Given the description of an element on the screen output the (x, y) to click on. 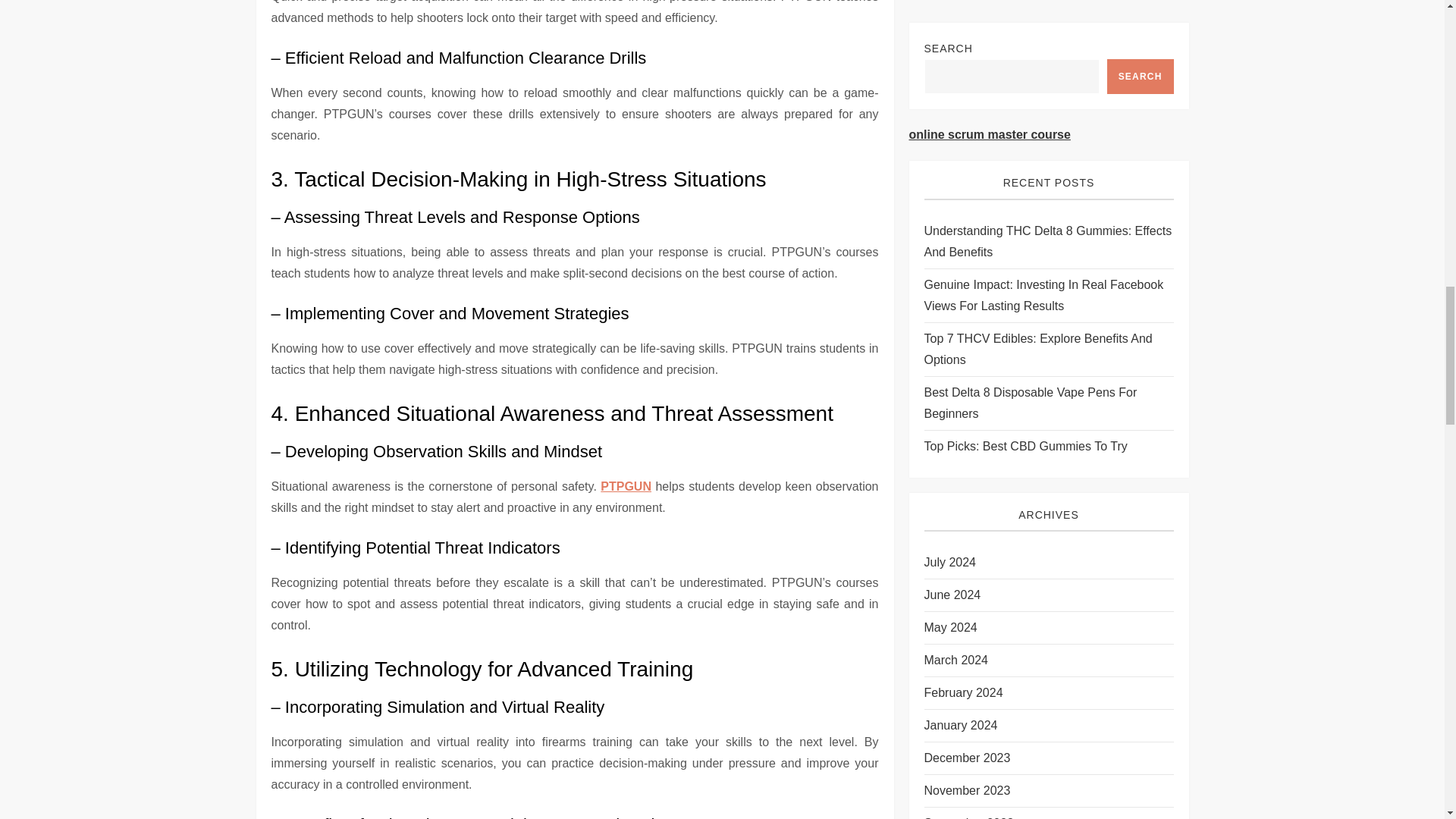
PTPGUN (624, 486)
